Given the description of an element on the screen output the (x, y) to click on. 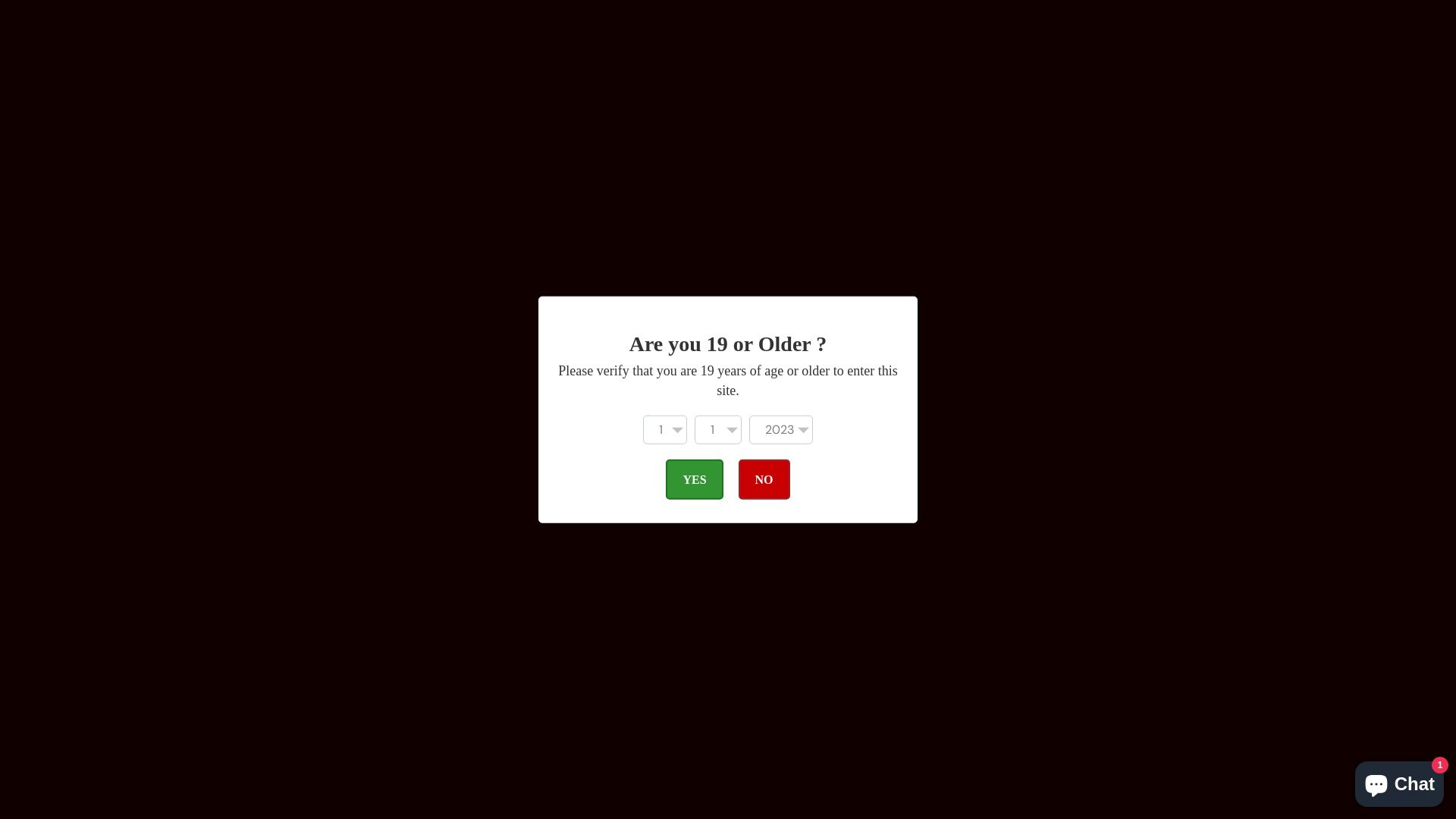
Shop Element type: text (391, 93)
519-991-7599 Element type: text (378, 49)
Sign In Element type: text (1193, 50)
Wish Lists Element type: text (1125, 36)
About Us Element type: text (521, 93)
Home Element type: text (330, 93)
NO Element type: text (764, 478)
Logo Element type: hover (246, 36)
RETURN TO STORE Element type: text (612, 590)
0 Element type: text (1257, 40)
Contact Us Element type: text (609, 93)
User Icon Element type: hover (1193, 26)
Contact Element type: text (1169, 93)
Blogs Element type: text (450, 93)
SHOP THE COLLECTIONS Element type: text (842, 590)
Shopify online store chat Element type: hover (1399, 780)
YES Element type: text (693, 478)
